Given the description of an element on the screen output the (x, y) to click on. 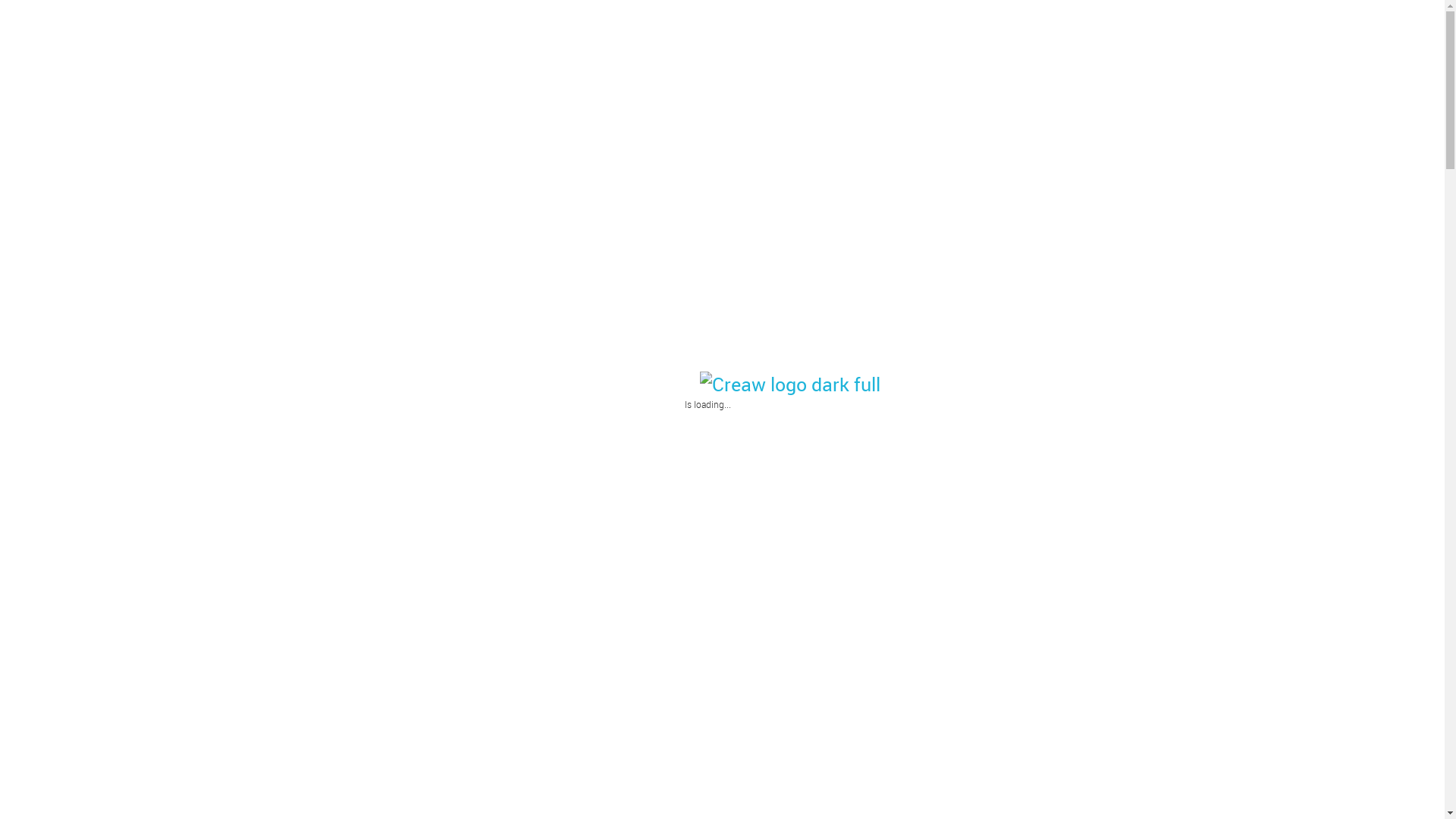
CONTACT US Element type: text (1293, 25)
PORTFOLIO Element type: text (1210, 25)
Nederlands Element type: hover (1386, 24)
SERVICES Element type: text (1133, 25)
English Element type: hover (1414, 24)
ABOUT US Element type: text (1059, 25)
